Given the description of an element on the screen output the (x, y) to click on. 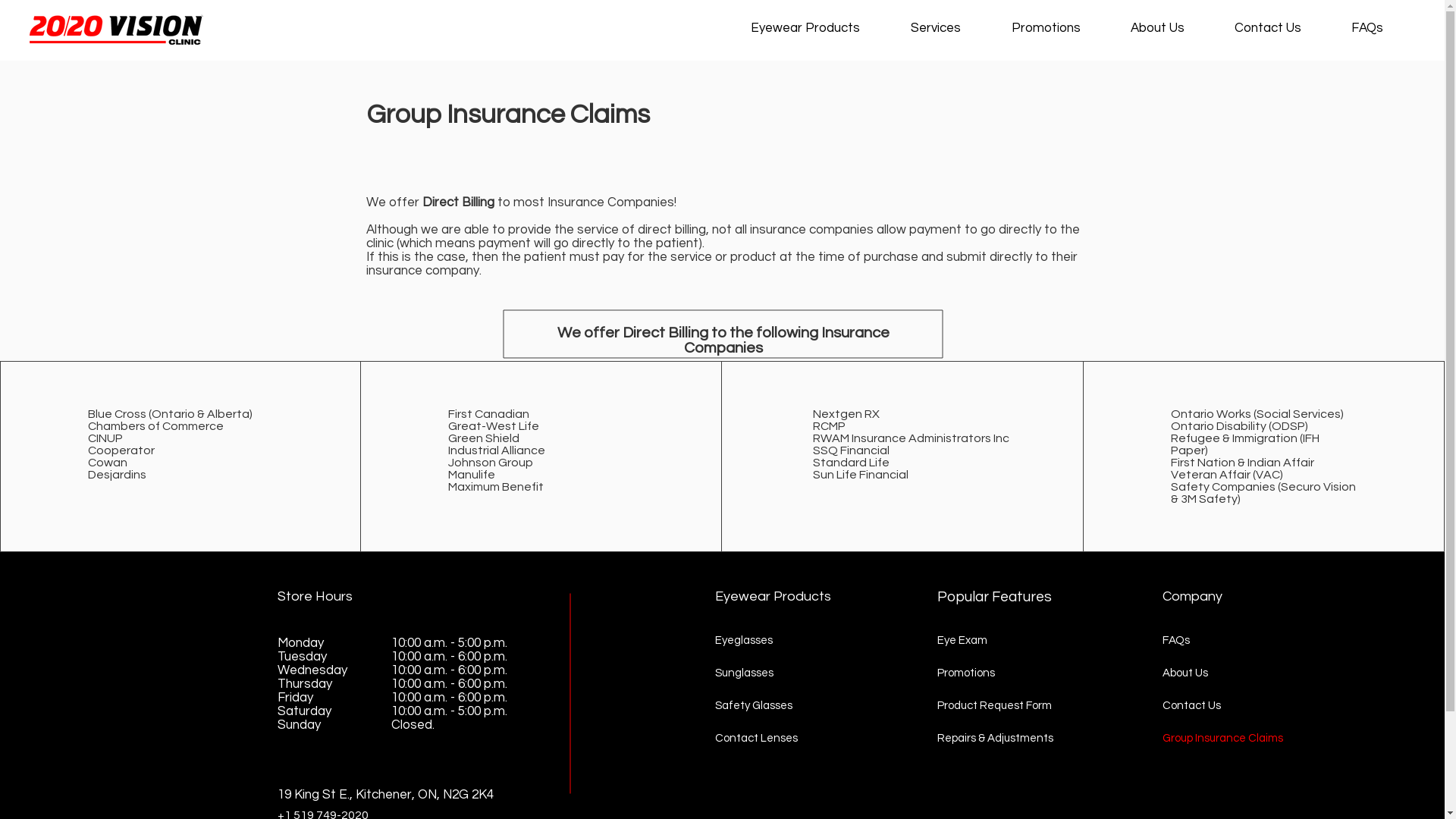
Contact Us Element type: text (1281, 28)
About Us Element type: text (1224, 672)
Safety Glasses Element type: text (760, 705)
About Us Element type: text (1171, 28)
Sunglasses Element type: text (760, 672)
FAQs Element type: text (1380, 28)
Repairs & Adjustments Element type: text (995, 737)
Eye Exam Element type: text (995, 640)
Eyeglasses Element type: text (760, 640)
Contact Lenses Element type: text (760, 737)
Promotions Element type: text (995, 672)
Contact Us Element type: text (1224, 705)
Group Insurance Claims Element type: text (1224, 737)
FAQs Element type: text (1224, 640)
Product Request Form Element type: text (995, 705)
Promotions Element type: text (1059, 28)
